Given the description of an element on the screen output the (x, y) to click on. 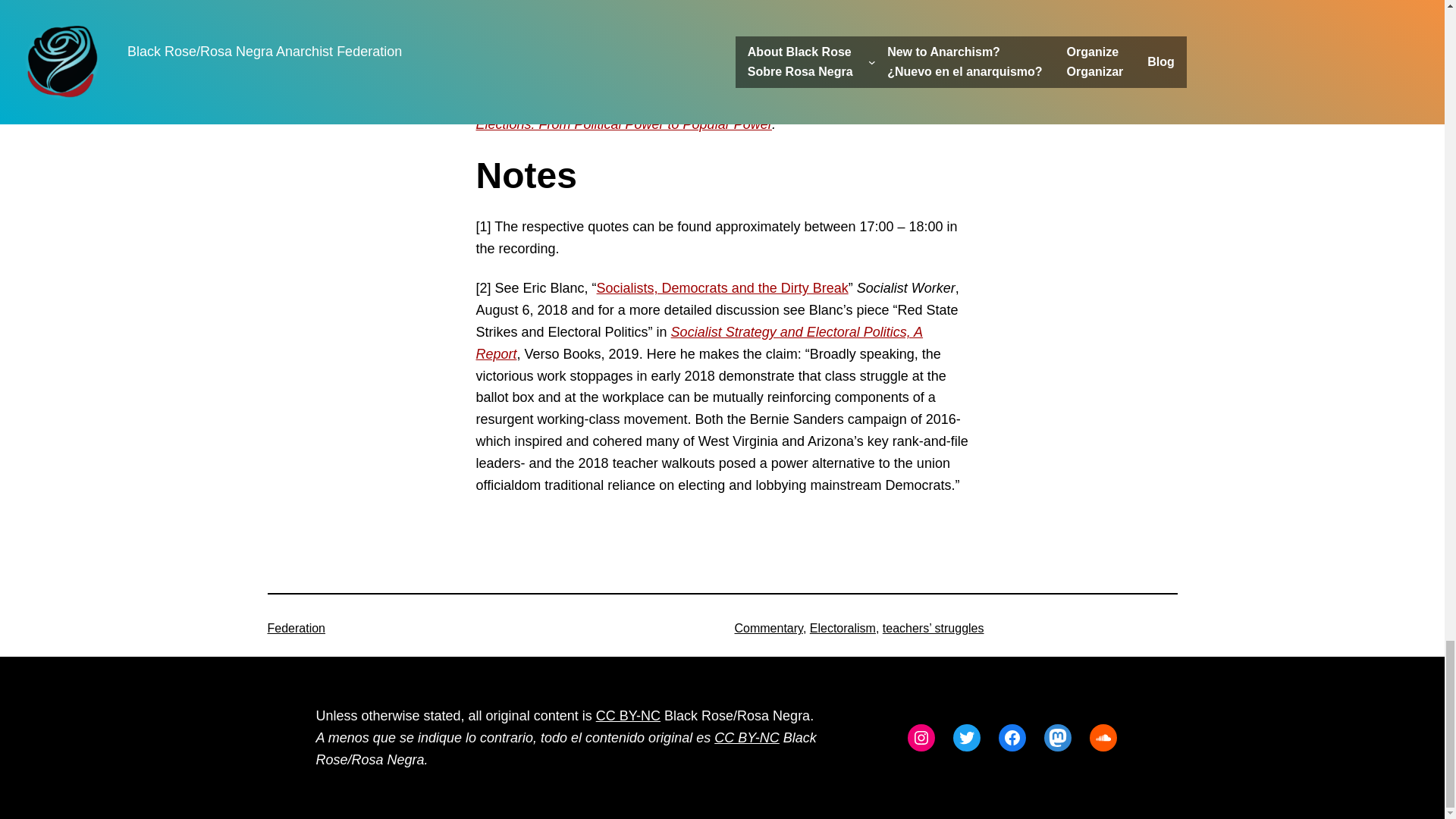
Commentary (767, 627)
Electoralism (842, 627)
Socialist Strategy and Electoral Politics, A Report (699, 342)
CC BY-NC (746, 737)
West Virginia IWW (858, 2)
Strike To Win: How the West Virginia Teacher Strike Was Won (668, 102)
CC BY-NC (628, 715)
The Lure of Elections: From Political Power to Popular Power (721, 113)
Socialists, Democrats and the Dirty Break (722, 287)
Federation (295, 627)
